Given the description of an element on the screen output the (x, y) to click on. 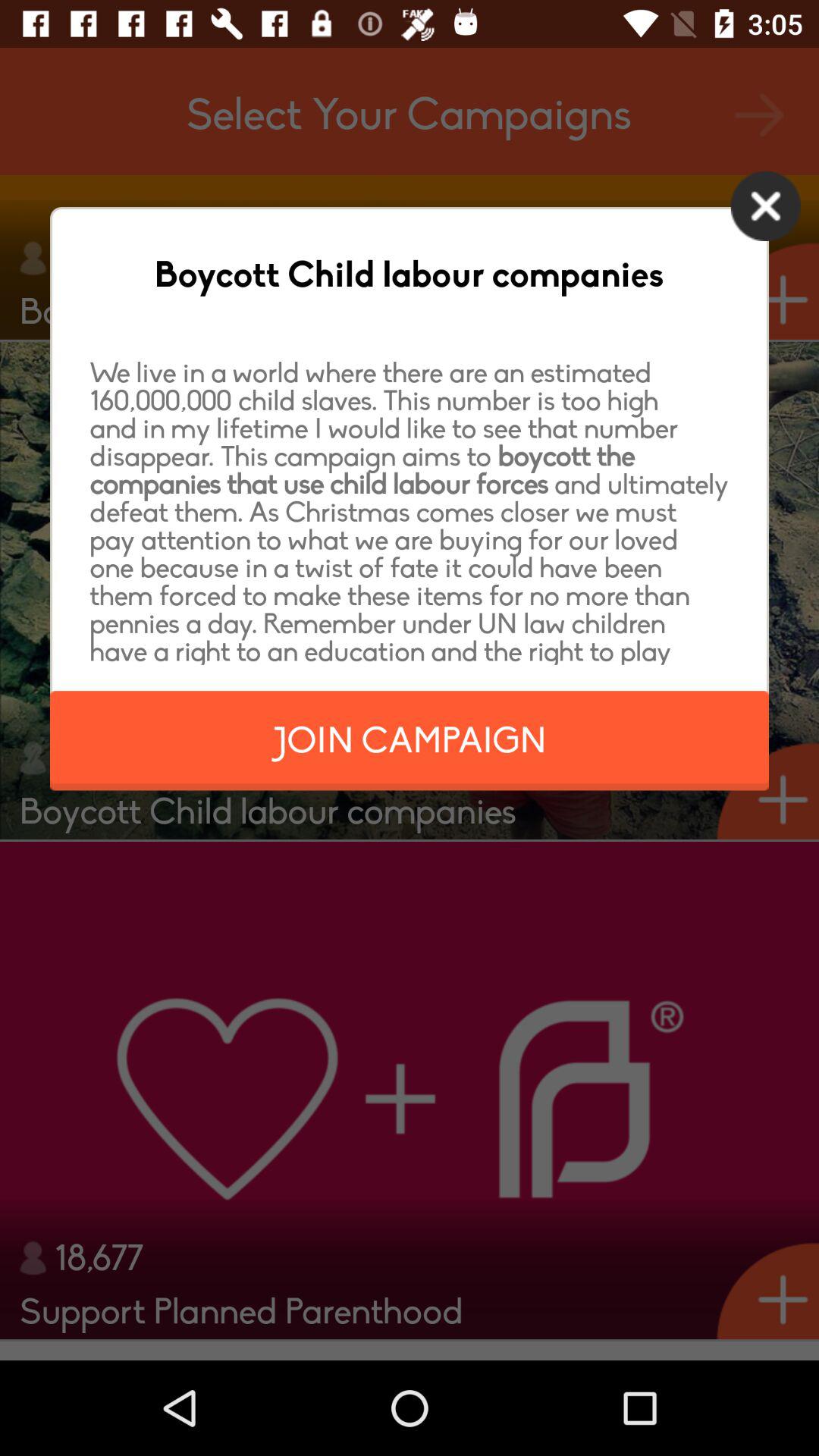
turn off the icon next to the boycott child labour icon (765, 206)
